Given the description of an element on the screen output the (x, y) to click on. 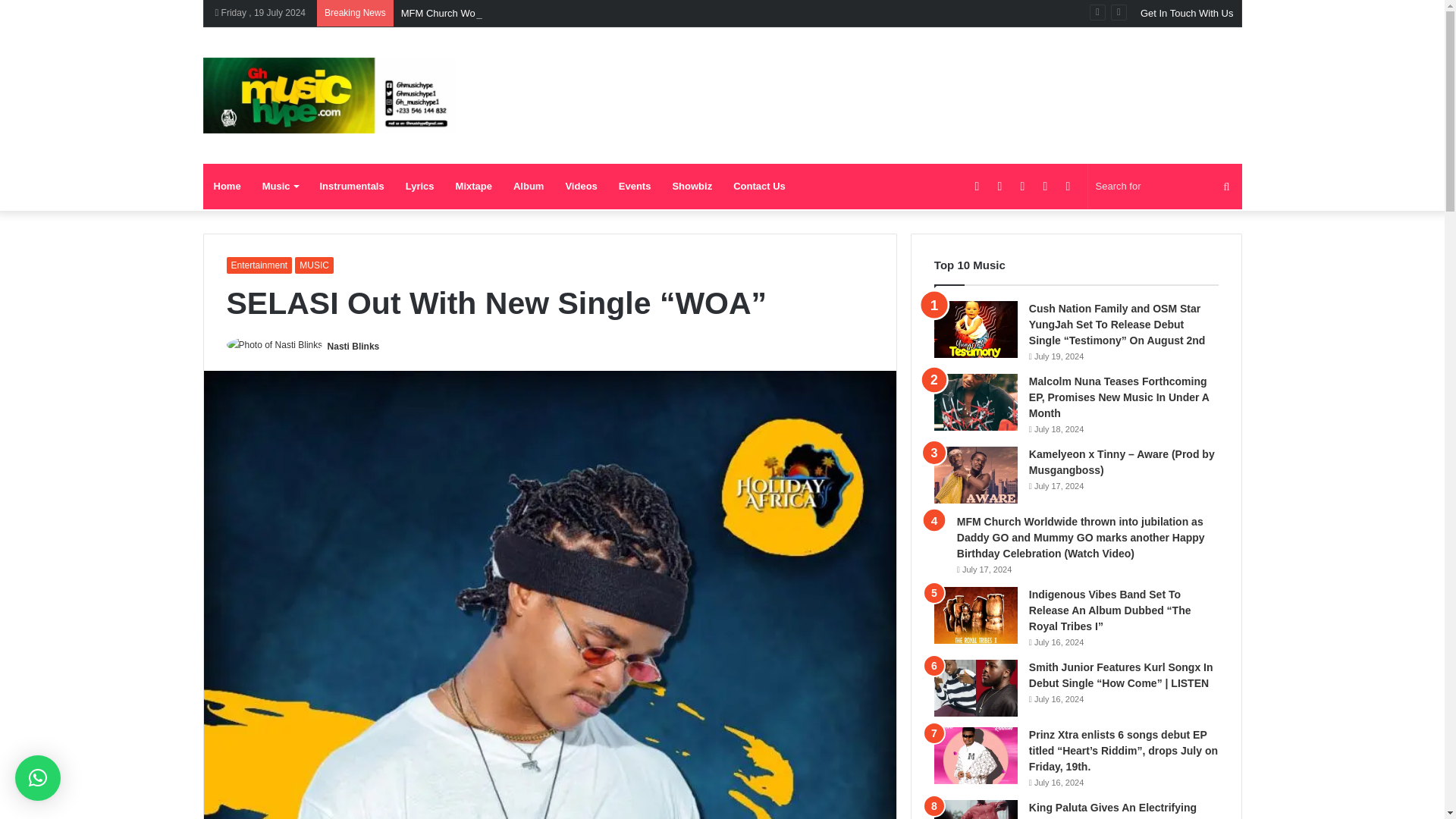
Get In Touch With Us (1186, 13)
Videos (580, 186)
Showbiz (691, 186)
Random Article (1045, 186)
Mixtape (473, 186)
Instagram (1022, 186)
Home (227, 186)
Random Article (1045, 186)
GhMusicHype (329, 95)
Facebook (977, 186)
Lyrics (419, 186)
Instrumentals (351, 186)
Switch skin (1068, 186)
Music (279, 186)
Album (528, 186)
